Given the description of an element on the screen output the (x, y) to click on. 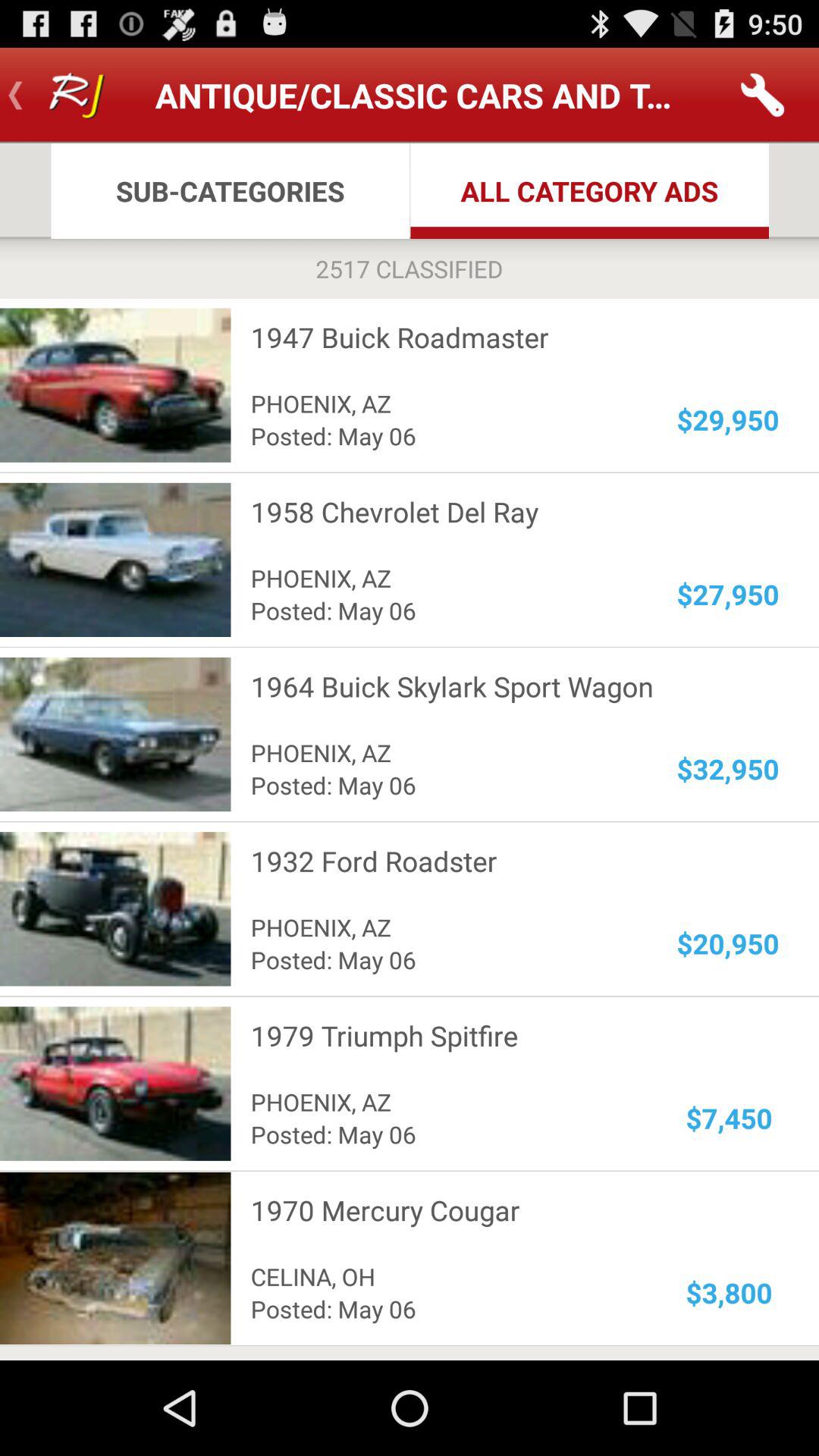
scroll to 1947 buick roadmaster icon (504, 337)
